Given the description of an element on the screen output the (x, y) to click on. 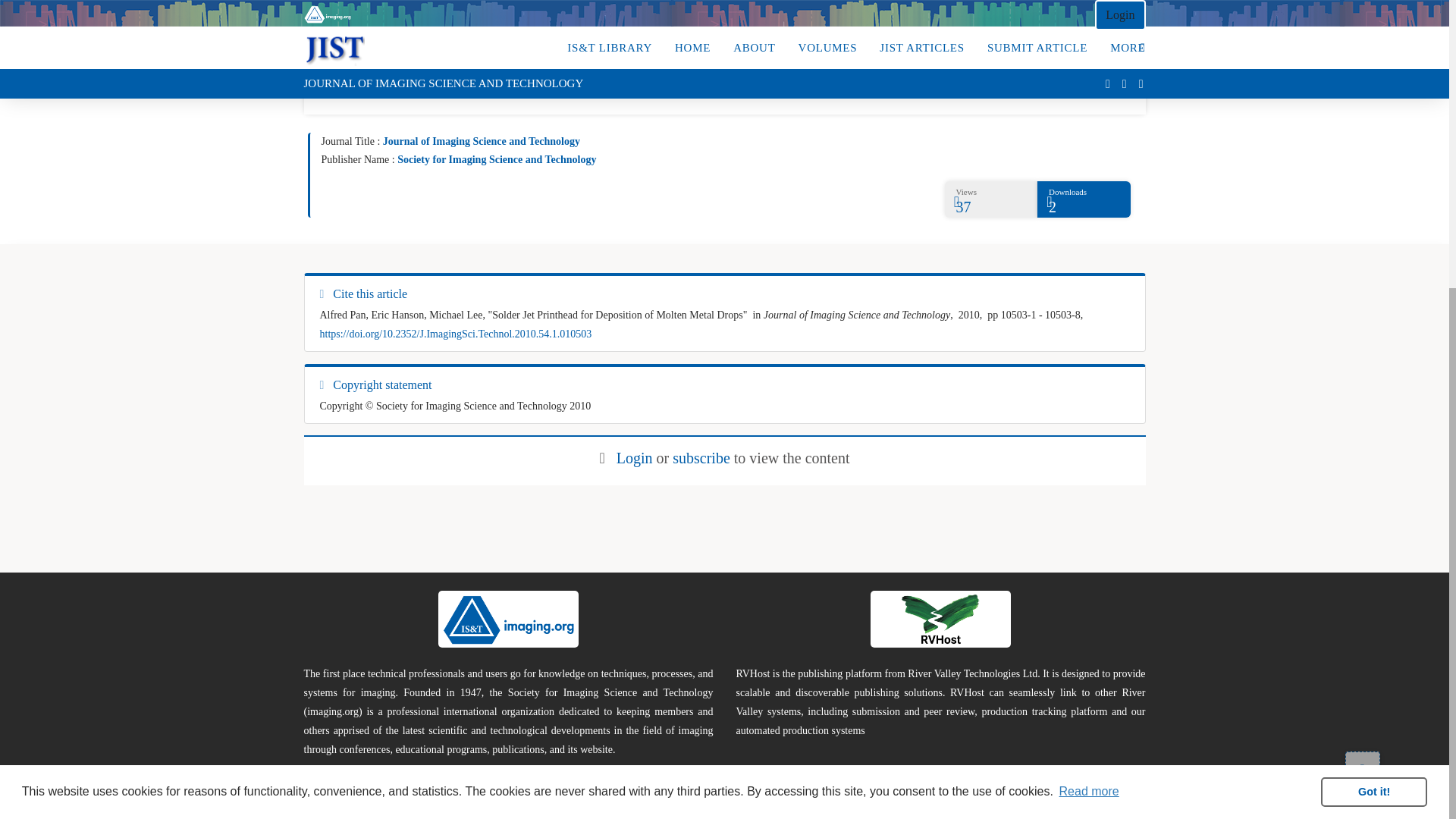
Read more (1089, 346)
Got it! (1373, 347)
